Given the description of an element on the screen output the (x, y) to click on. 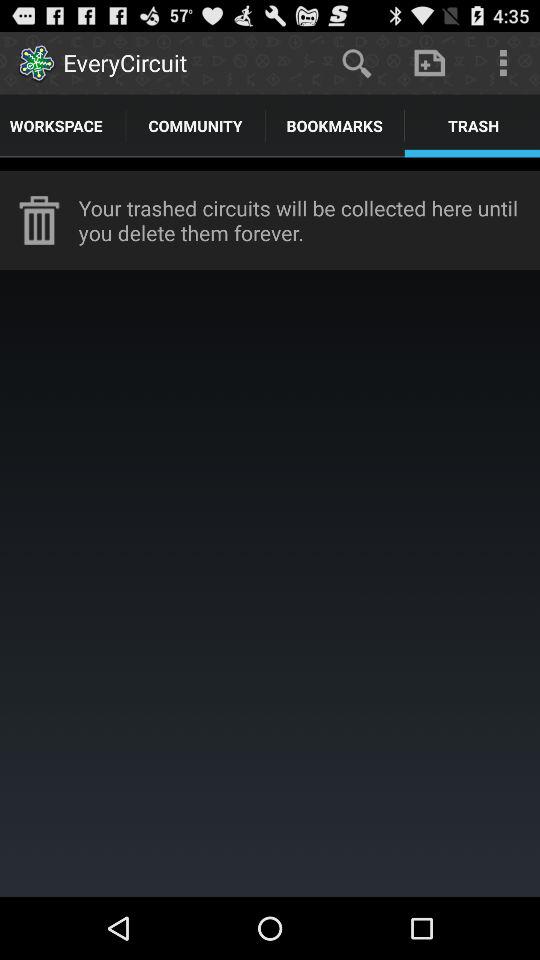
press icon above trash (503, 62)
